Given the description of an element on the screen output the (x, y) to click on. 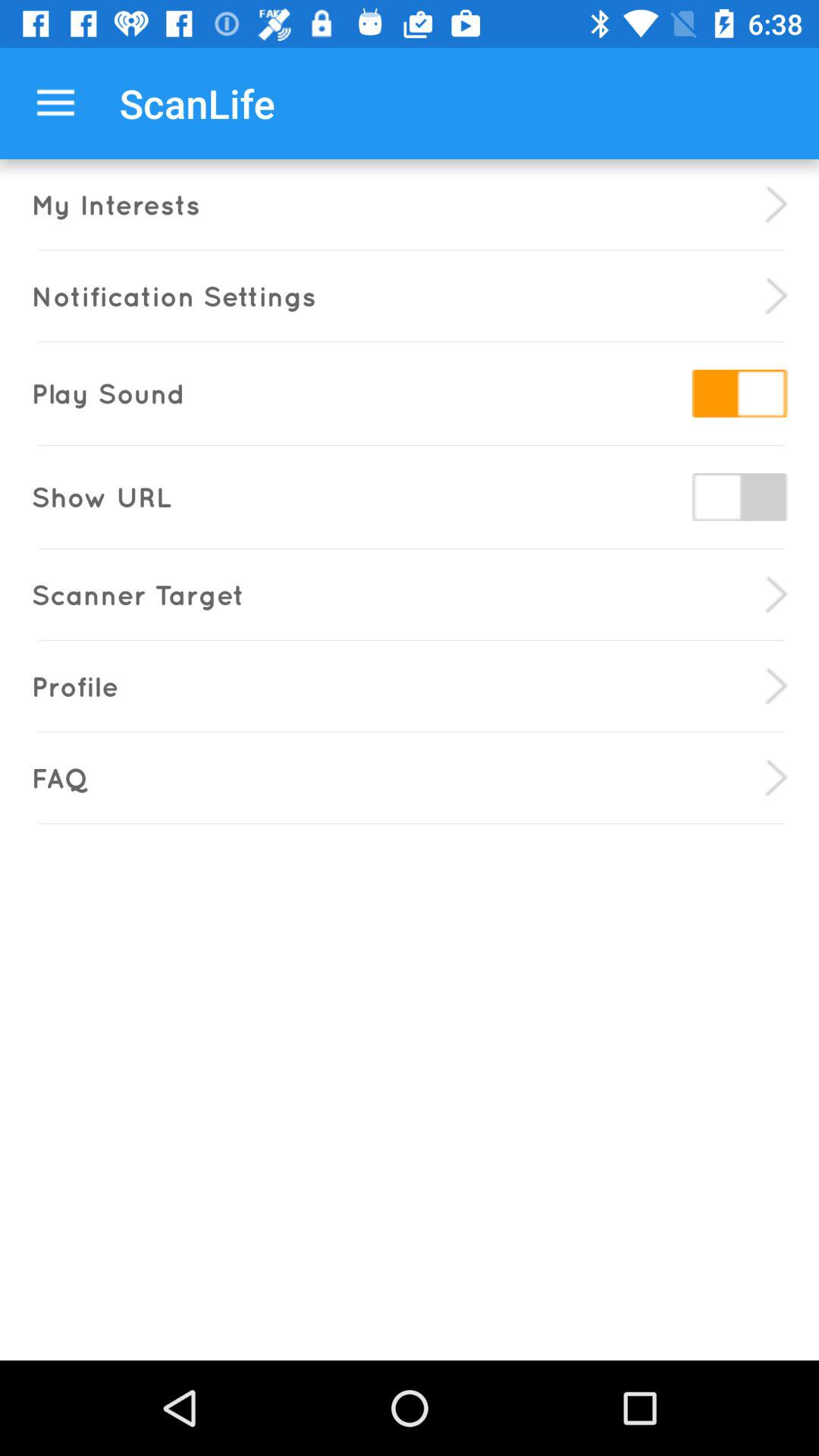
click item next to the show url item (739, 496)
